Given the description of an element on the screen output the (x, y) to click on. 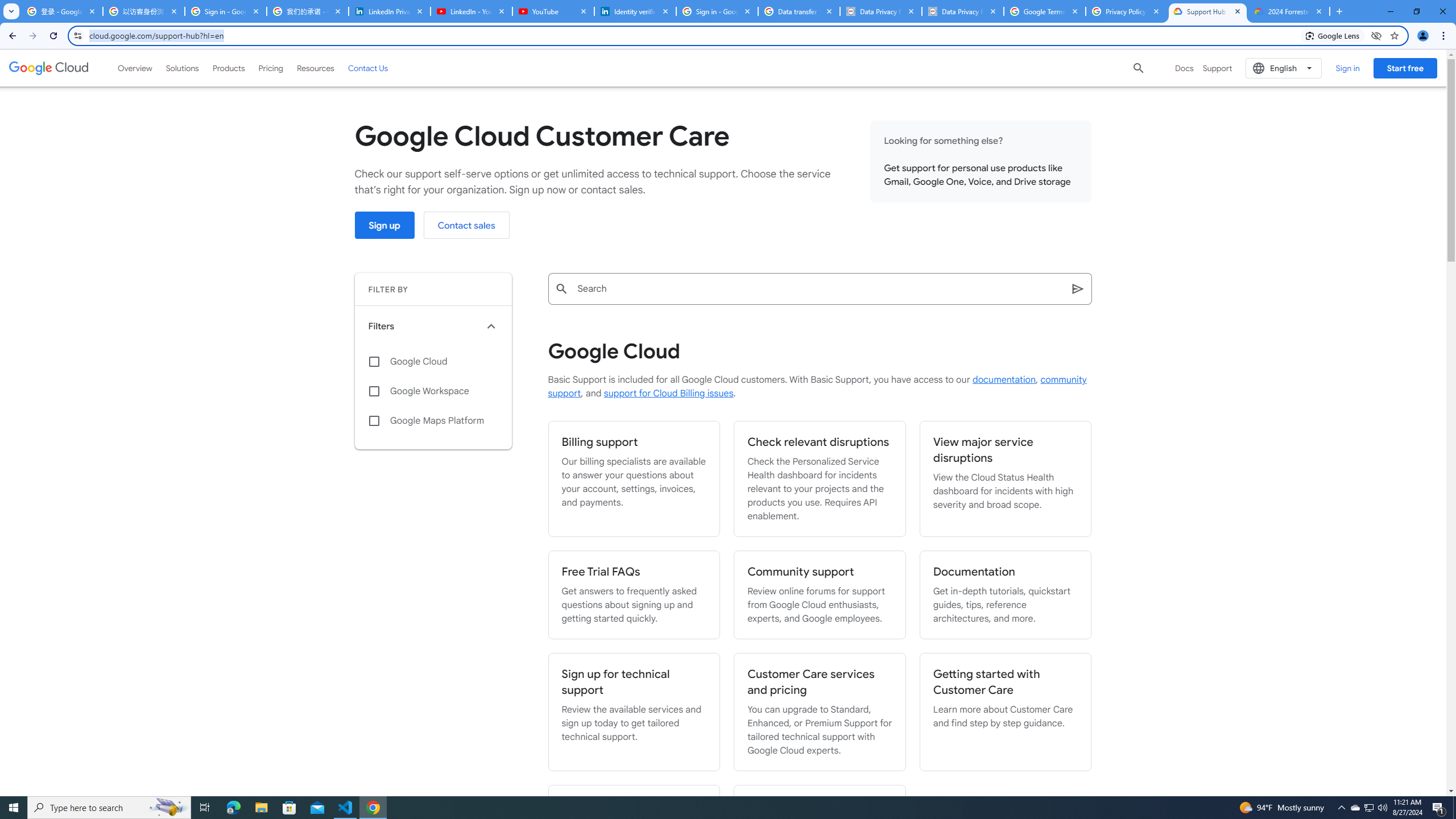
Sign in - Google Accounts (716, 11)
Support Hub | Google Cloud (1207, 11)
YouTube (552, 11)
Docs (1183, 67)
